Given the description of an element on the screen output the (x, y) to click on. 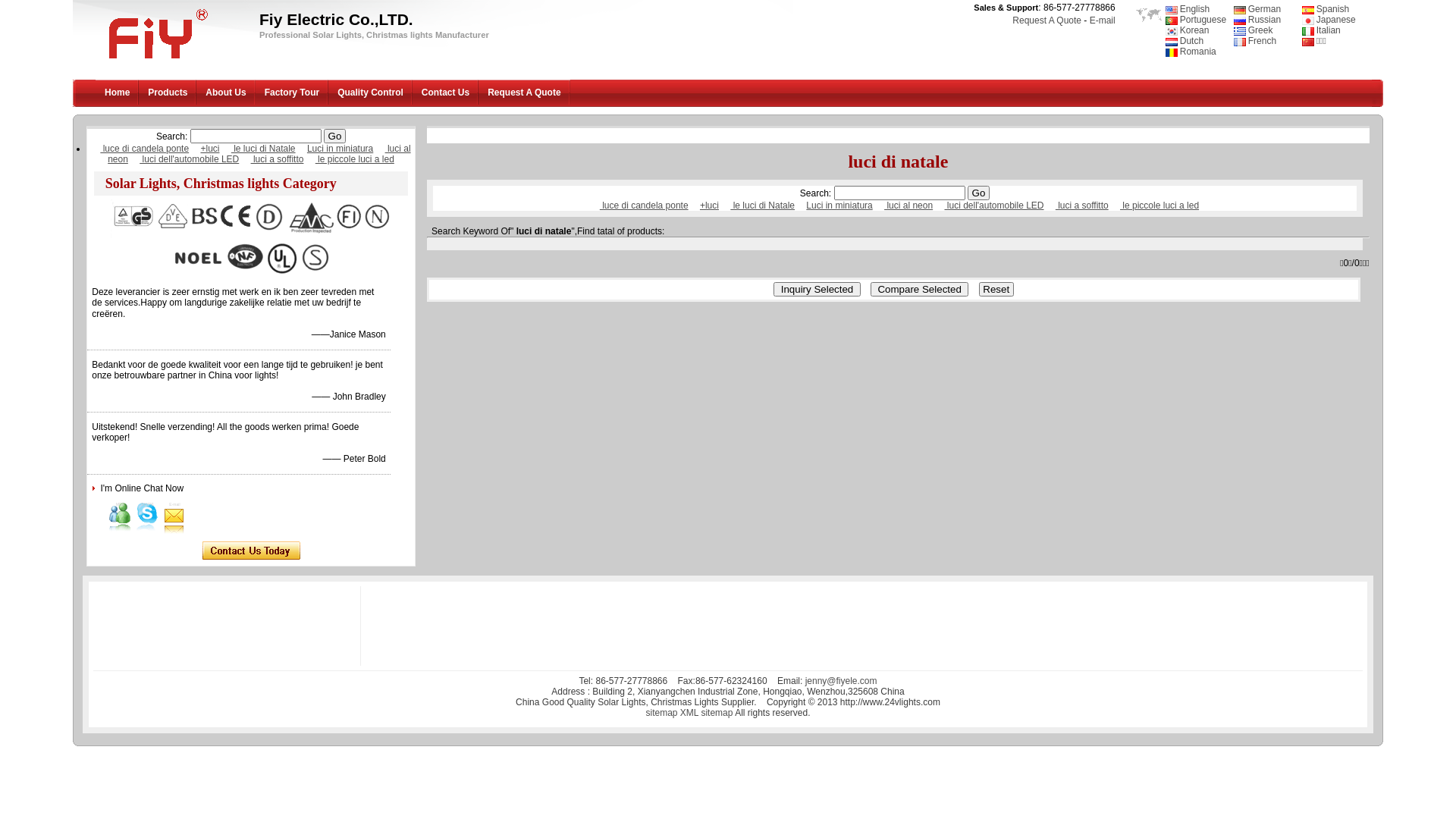
+luci Element type: text (209, 148)
+luci Element type: text (708, 205)
le piccole luci a led Element type: text (354, 158)
luci dell'automobile LED Element type: text (188, 158)
Home Element type: text (116, 91)
luci a soffitto Element type: text (277, 158)
Luci in miniatura Element type: text (340, 148)
  Inquiry Selected   Element type: text (816, 289)
Portuguese Element type: text (1195, 19)
Korean Element type: text (1187, 30)
Dutch Element type: text (1184, 40)
Request A Quote Element type: text (523, 91)
luci a soffitto Element type: text (1081, 205)
MSN Element type: text (119, 512)
Spanish Element type: text (1325, 8)
Contact Us Element type: text (445, 91)
 Go  Element type: text (334, 135)
Romania Element type: text (1190, 51)
luci al neon Element type: text (908, 205)
Italian Element type: text (1321, 30)
Request A Quote Element type: text (1046, 20)
le piccole luci a led Element type: text (1159, 205)
German Element type: text (1256, 8)
Fiy Electric Co.,LTD. Element type: hover (155, 61)
About Us Element type: text (225, 91)
Products Element type: text (167, 91)
le luci di Natale Element type: text (762, 205)
E-mail Element type: text (1102, 20)
E-mail Element type: text (174, 512)
Russian Element type: text (1256, 19)
XML sitemap Element type: text (706, 712)
Greek Element type: text (1253, 30)
le luci di Natale Element type: text (263, 148)
luce di candela ponte Element type: text (144, 148)
Factory Tour Element type: text (291, 91)
sitemap Element type: text (661, 712)
SKYPE Element type: text (146, 512)
Japanese Element type: text (1328, 19)
luci dell'automobile LED Element type: text (993, 205)
Luci in miniatura Element type: text (839, 205)
luce di candela ponte Element type: text (643, 205)
  Compare Selected   Element type: text (919, 289)
jenny@fiyele.com Element type: text (841, 680)
French Element type: text (1254, 40)
luci al neon Element type: text (258, 153)
 Reset  Element type: text (996, 289)
Quality Control Element type: text (370, 91)
English Element type: text (1187, 8)
 Go  Element type: text (978, 192)
